Given the description of an element on the screen output the (x, y) to click on. 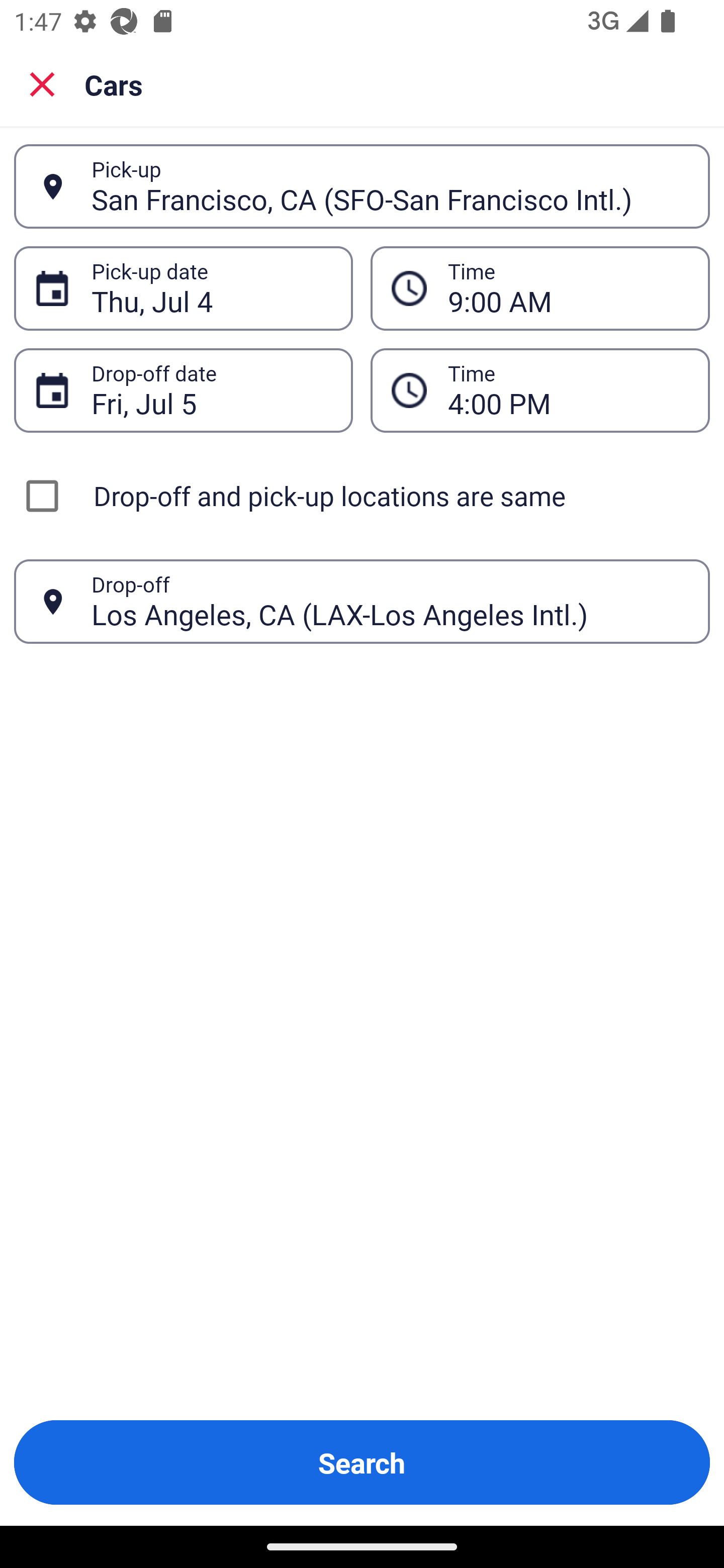
Close search screen (42, 84)
San Francisco, CA (SFO-San Francisco Intl.) (389, 186)
Thu, Jul 4 (211, 288)
9:00 AM (568, 288)
Fri, Jul 5 (211, 390)
4:00 PM (568, 390)
Drop-off and pick-up locations are same (361, 495)
Los Angeles, CA (LAX-Los Angeles Intl.) (389, 601)
Search Button Search (361, 1462)
